Given the description of an element on the screen output the (x, y) to click on. 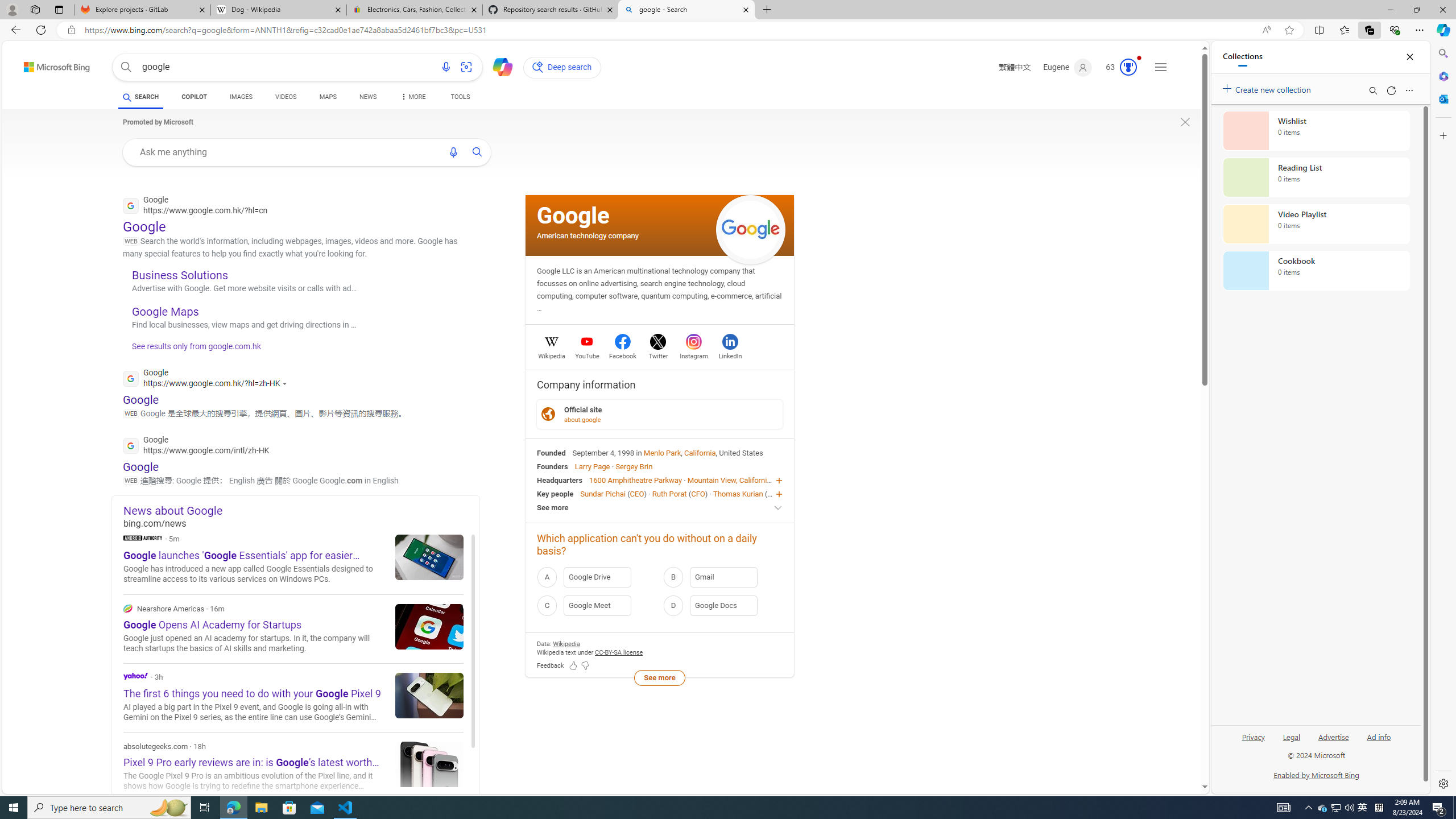
AutomationID: rh_meter (1128, 66)
B Gmail (722, 576)
COPILOT (193, 98)
Yahoo (293, 697)
Founders (552, 465)
Sundar Pichai (602, 492)
Larry Page (592, 465)
Instagram (693, 354)
Twitter (658, 354)
YouTube (587, 354)
Privacy (1252, 741)
